Given the description of an element on the screen output the (x, y) to click on. 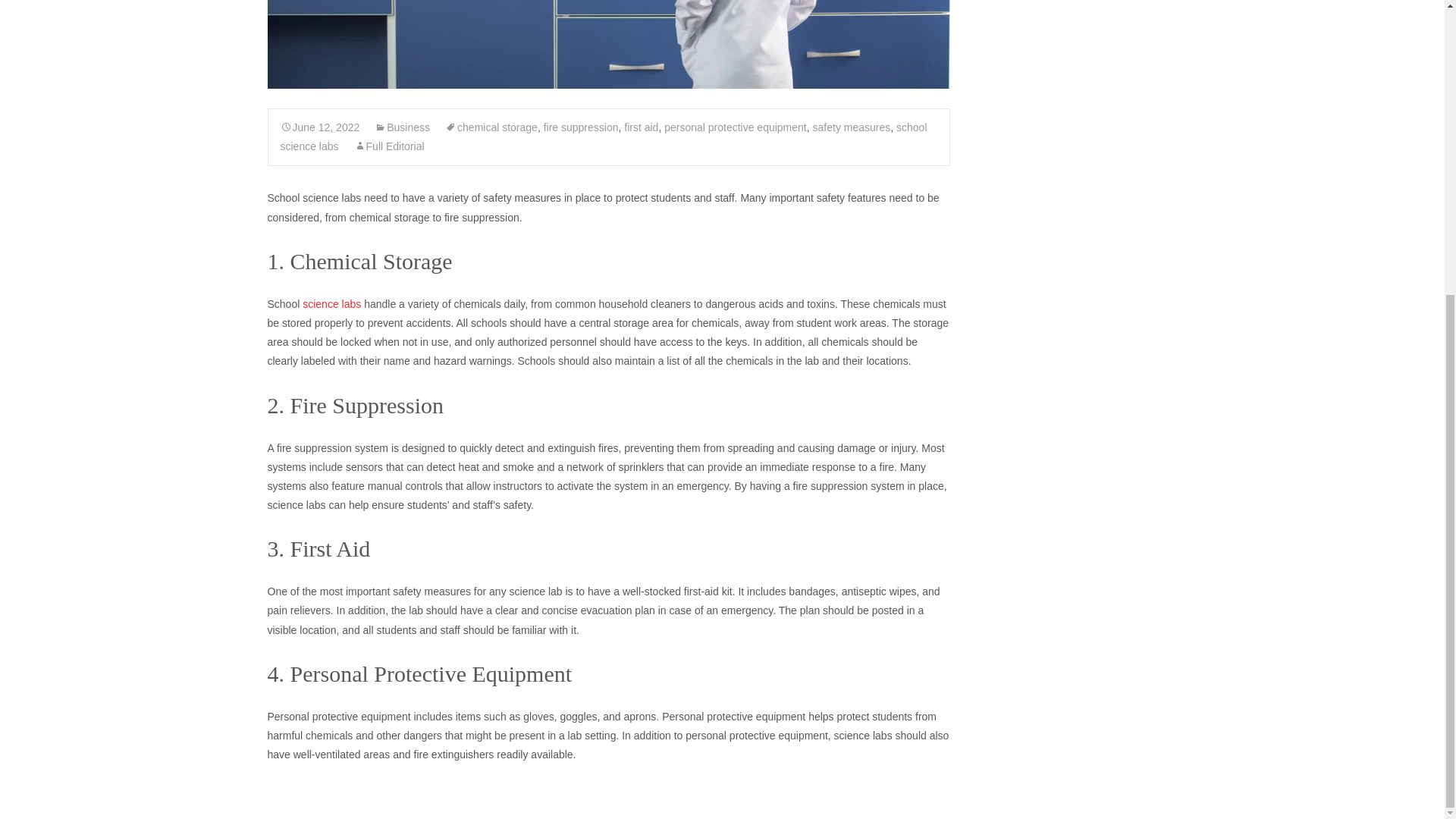
fire suppression (580, 127)
school science labs (604, 136)
Full Editorial (389, 146)
personal protective equipment (734, 127)
chemical storage (491, 127)
June 12, 2022 (320, 127)
Business (401, 127)
safety measures (851, 127)
7 Safety Measures School Science Labs Need to Have in Place (607, 44)
